Given the description of an element on the screen output the (x, y) to click on. 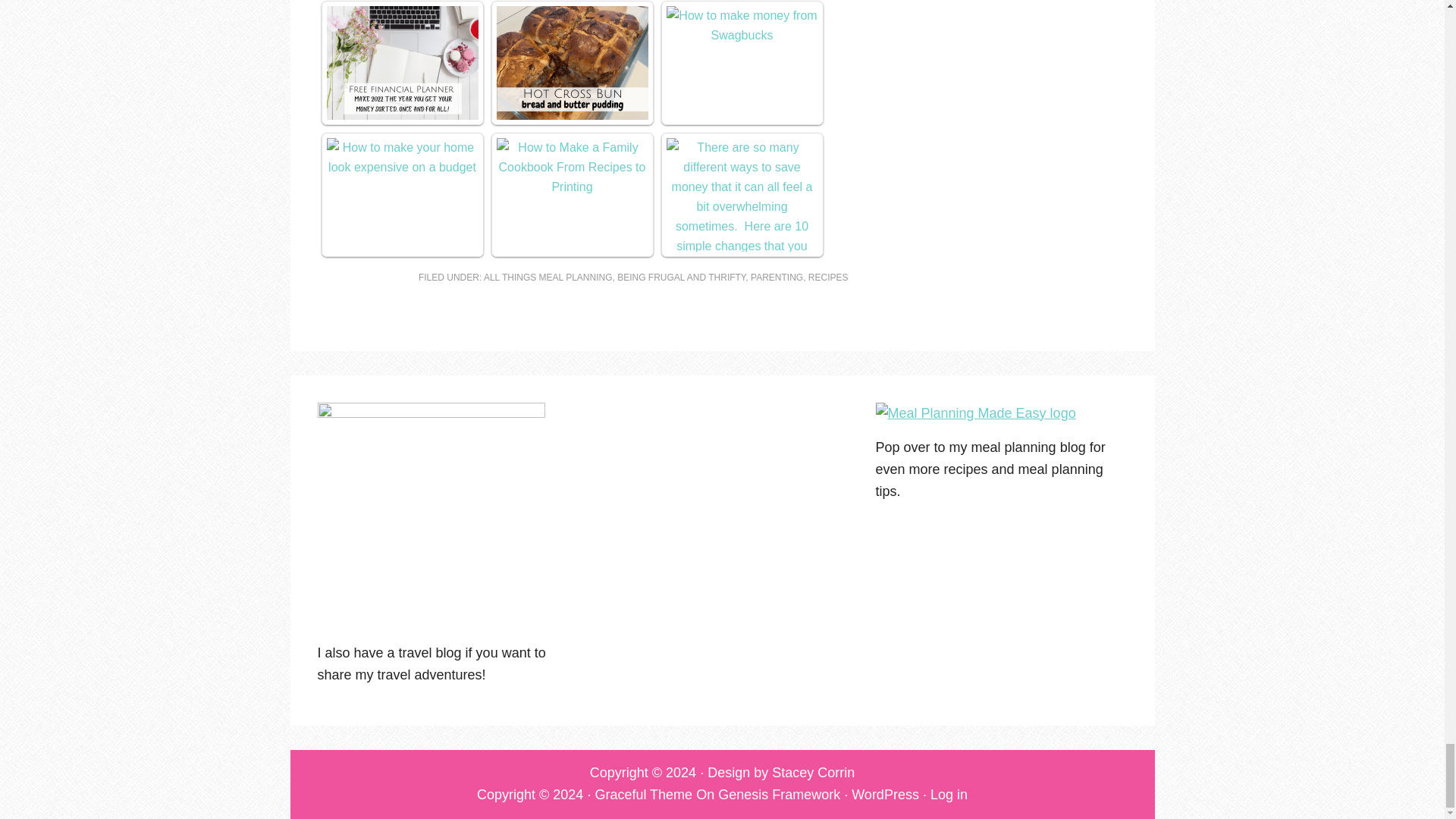
Hot Cross Bun Bread and Butter Pudding.... (571, 61)
FREE Financial Planner to make 2022 your money year.... (401, 61)
How to make money with Swagbucks... (740, 24)
Make your home look expensive on a budget... (401, 156)
How to Make a Family Cookbook: From Recipes to Printing.... (571, 166)
